Given the description of an element on the screen output the (x, y) to click on. 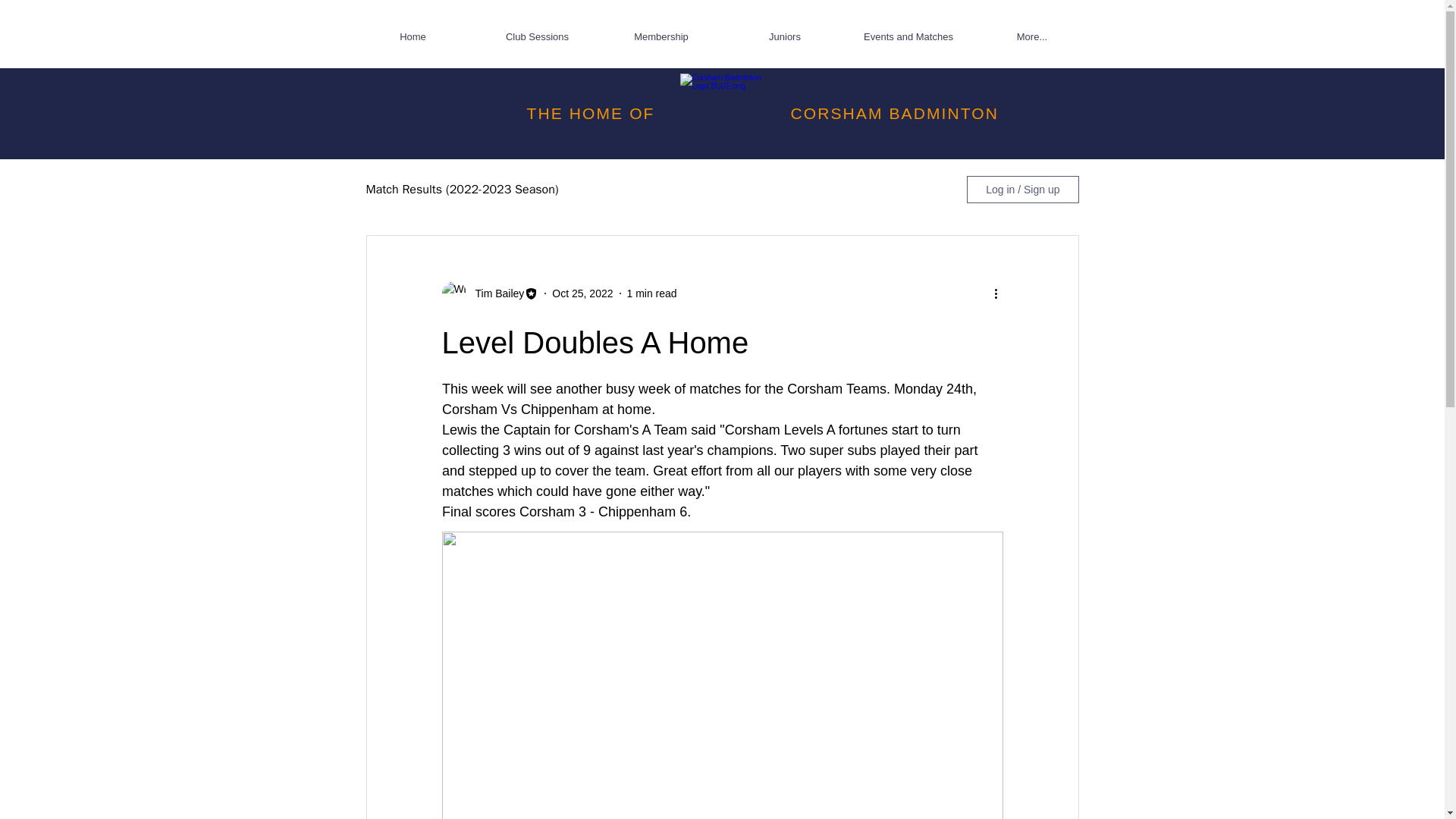
Juniors (785, 36)
Oct 25, 2022 (581, 292)
Tim Bailey (494, 293)
Home (412, 36)
1 min read (651, 292)
Membership (660, 36)
Club Sessions (536, 36)
Events and Matches (907, 36)
